Given the description of an element on the screen output the (x, y) to click on. 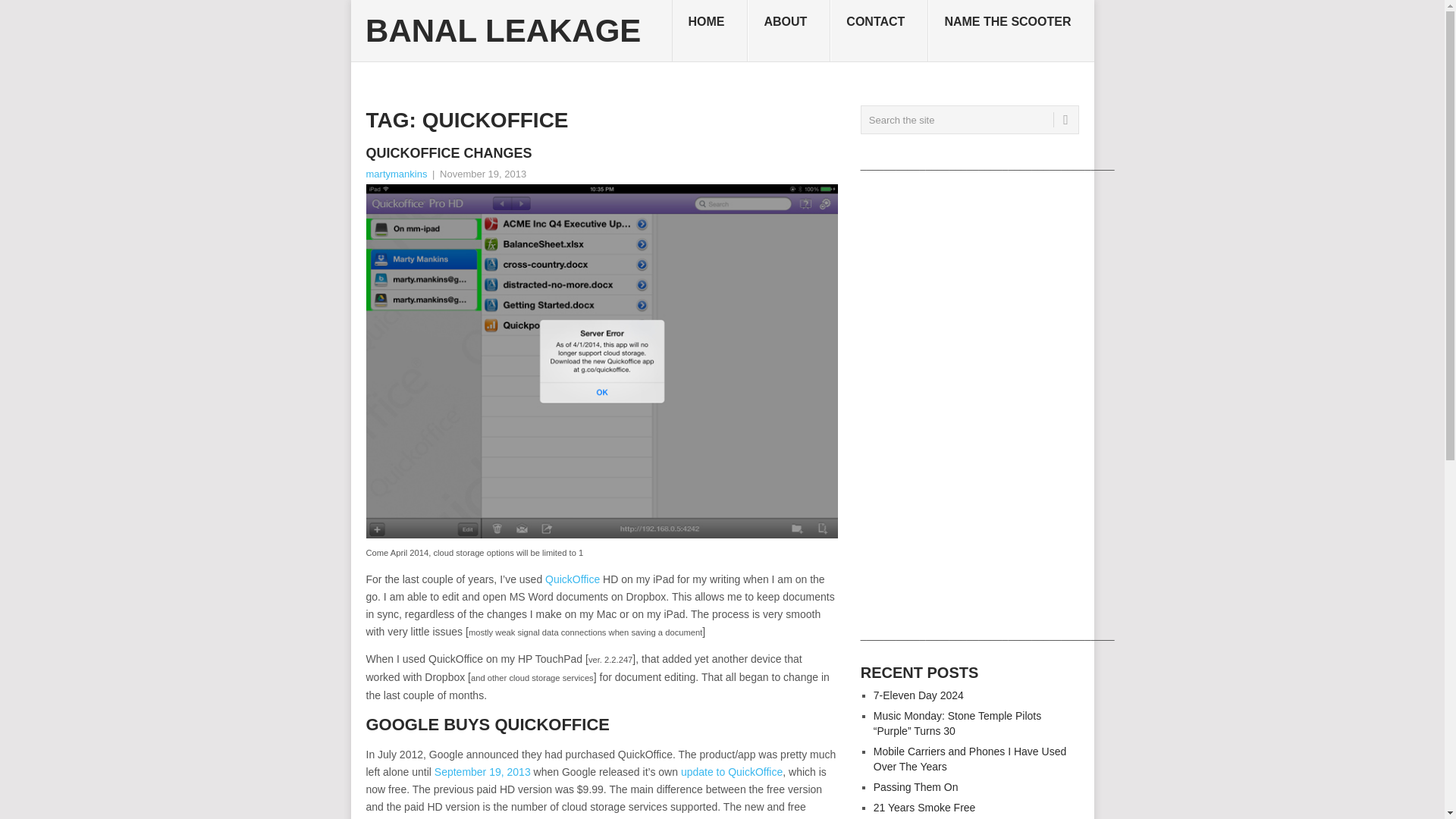
Quickoffice, Wikipedia (571, 579)
QuickOffice Changes (601, 153)
21 Years Smoke Free (924, 807)
NAME THE SCOOTER (1010, 31)
QUICKOFFICE CHANGES (601, 153)
Passing Them On (915, 787)
update to QuickOffice (732, 771)
Important changes to QuickOffice HD (482, 771)
7-Eleven Day 2024 (918, 695)
HOME (709, 31)
